Given the description of an element on the screen output the (x, y) to click on. 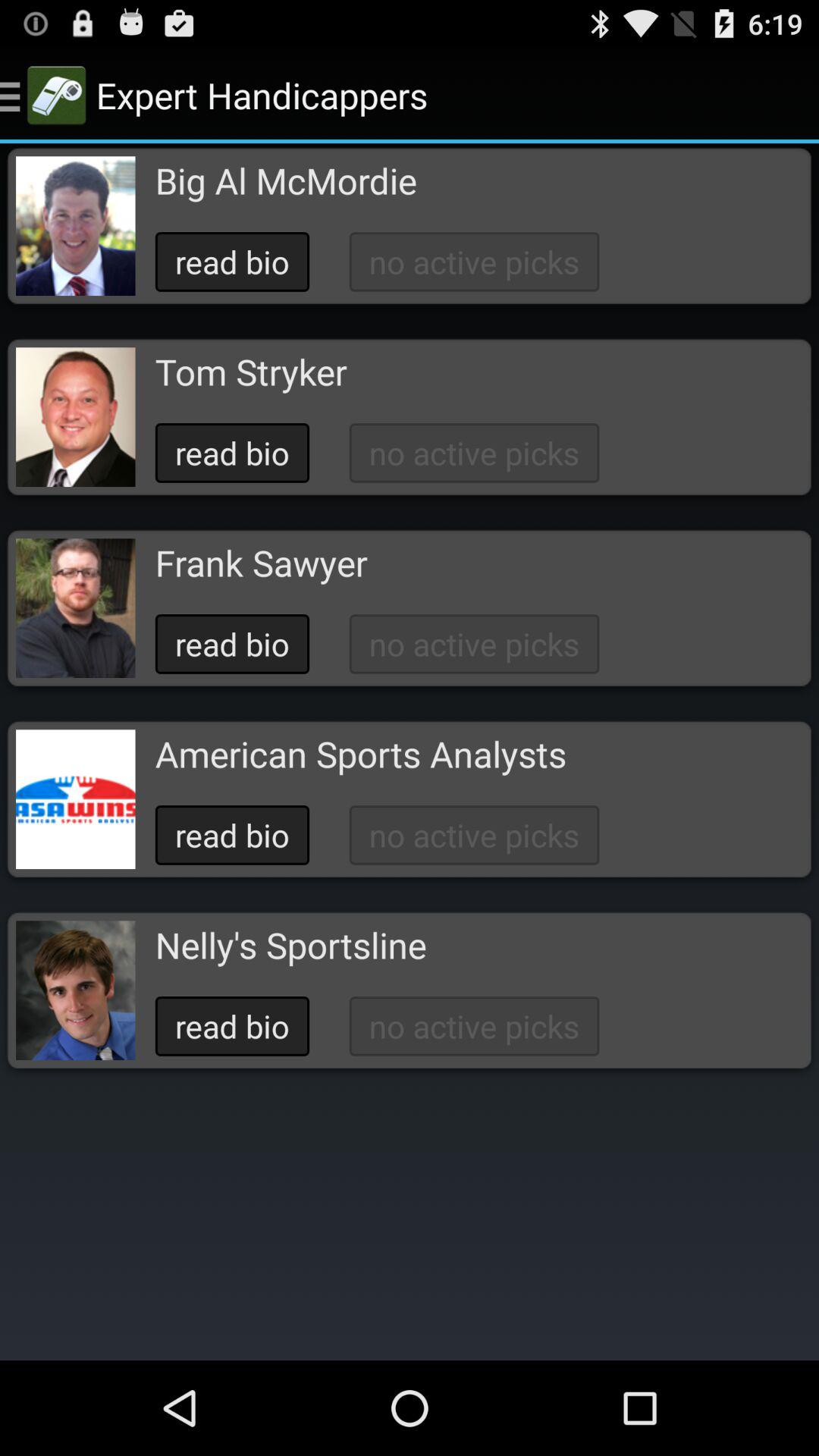
click button above the read bio button (250, 371)
